Given the description of an element on the screen output the (x, y) to click on. 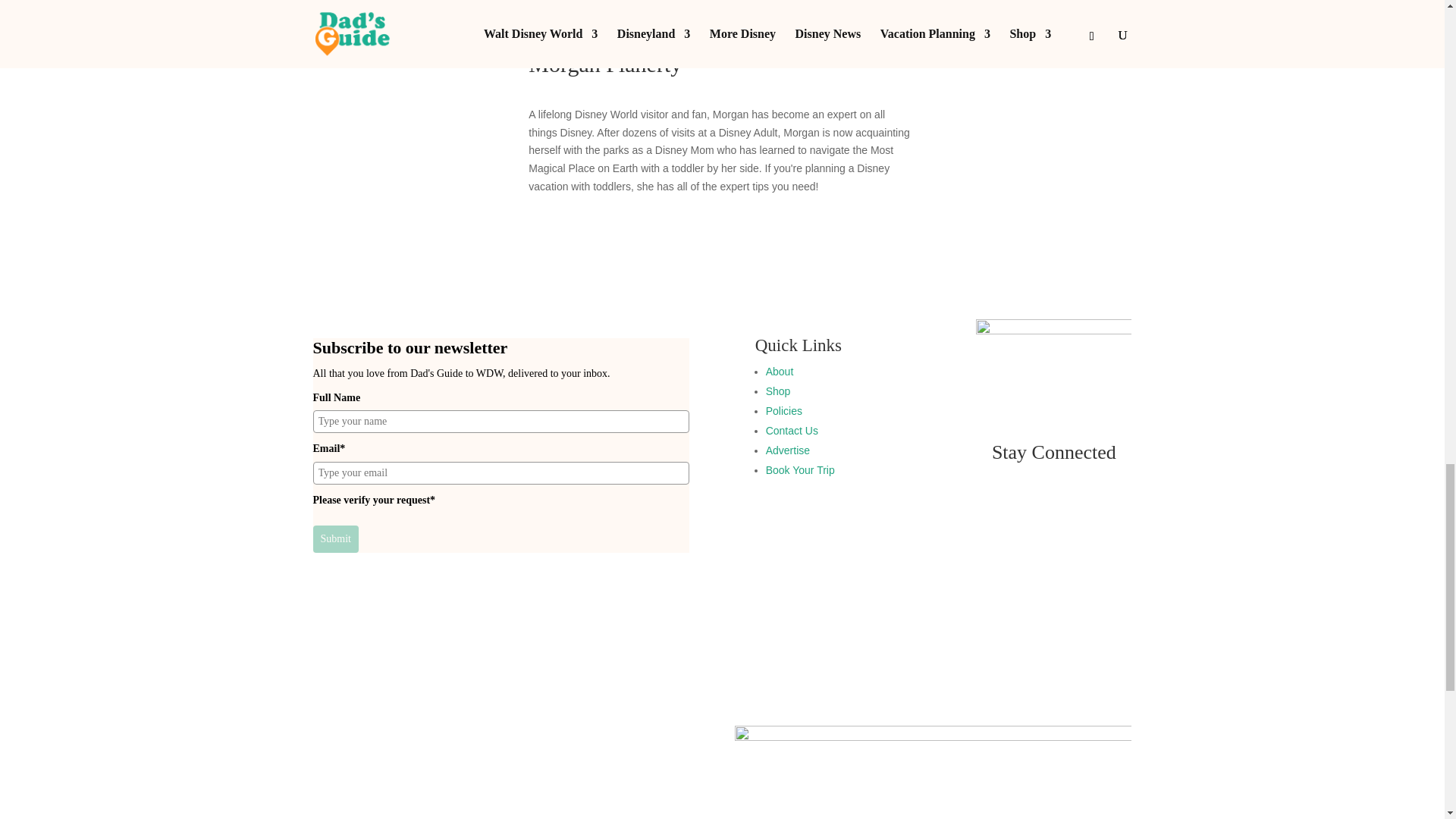
Follow on Facebook (1038, 514)
Follow on Instagram (1069, 514)
About (779, 371)
Asset 3Dads-Orange-Footer (1053, 364)
